Given the description of an element on the screen output the (x, y) to click on. 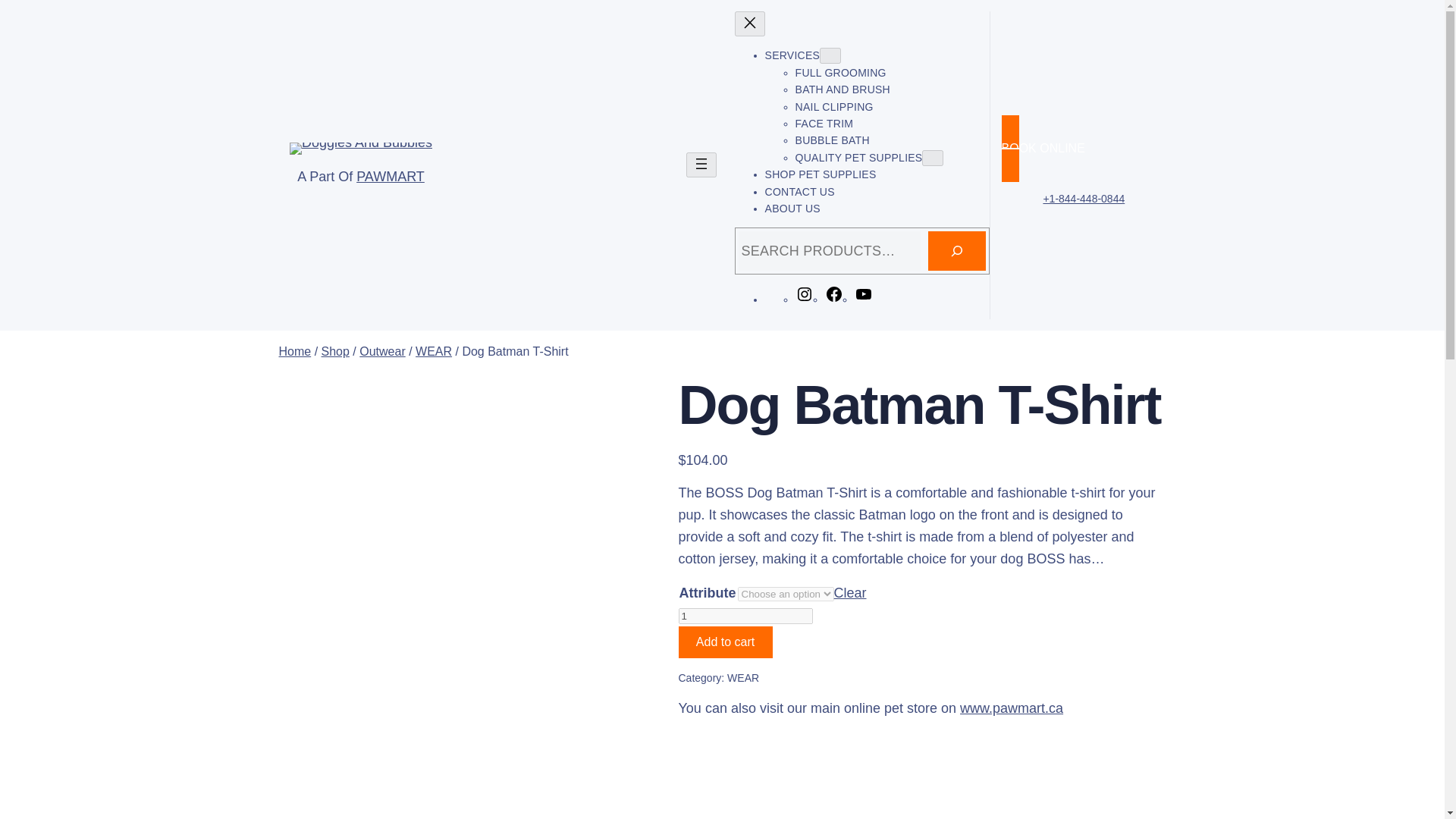
WEAR (432, 350)
BATH AND BRUSH (841, 89)
PAWMART (390, 176)
YOUTUBE (863, 299)
FACEBOOK (834, 299)
BOOK ONLINE (1083, 147)
Shop (335, 350)
Home (295, 350)
FULL GROOMING (840, 72)
SERVICES (793, 55)
